Given the description of an element on the screen output the (x, y) to click on. 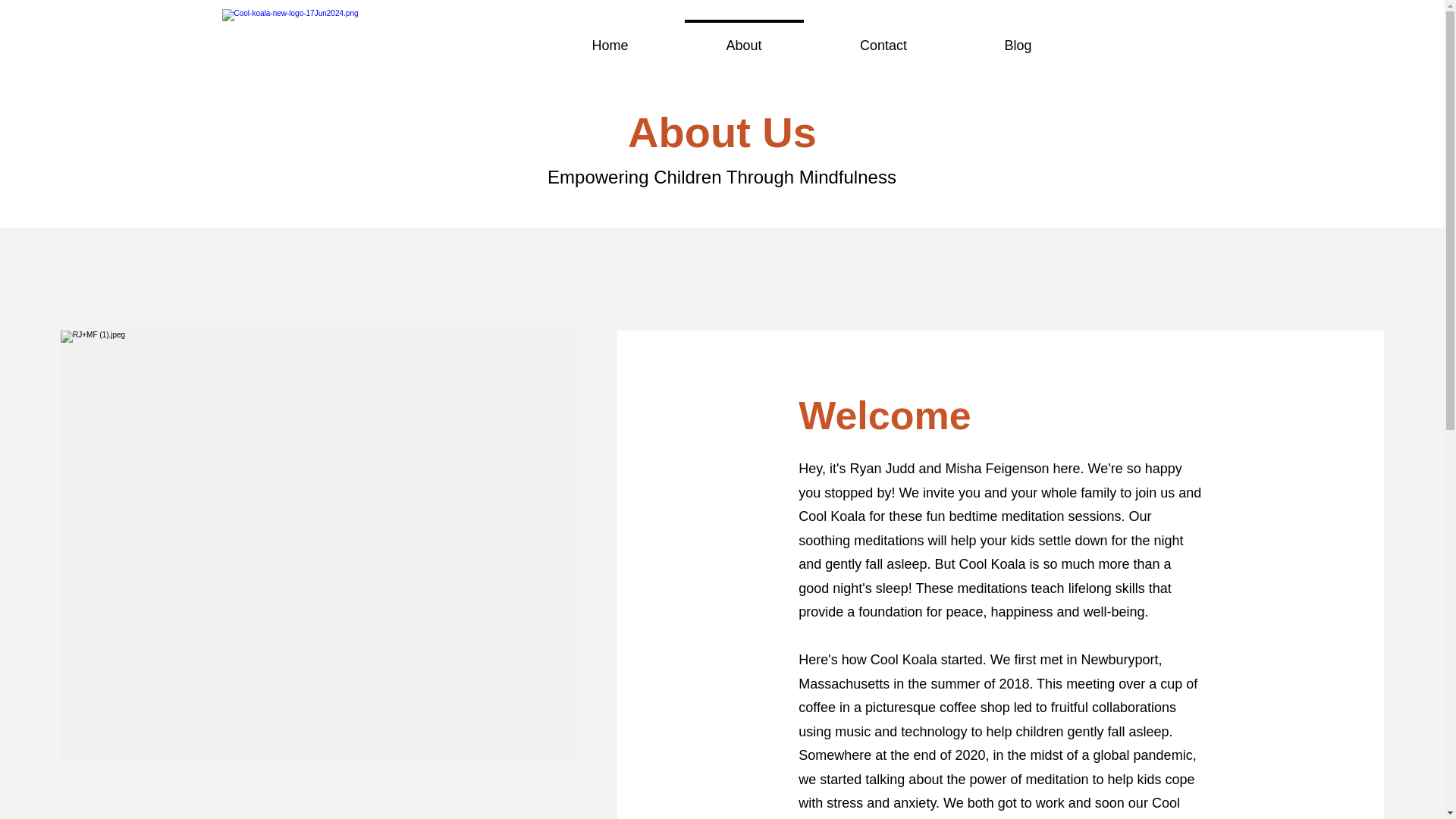
Contact (883, 38)
Blog (1017, 38)
About (743, 38)
Home (610, 38)
